Given the description of an element on the screen output the (x, y) to click on. 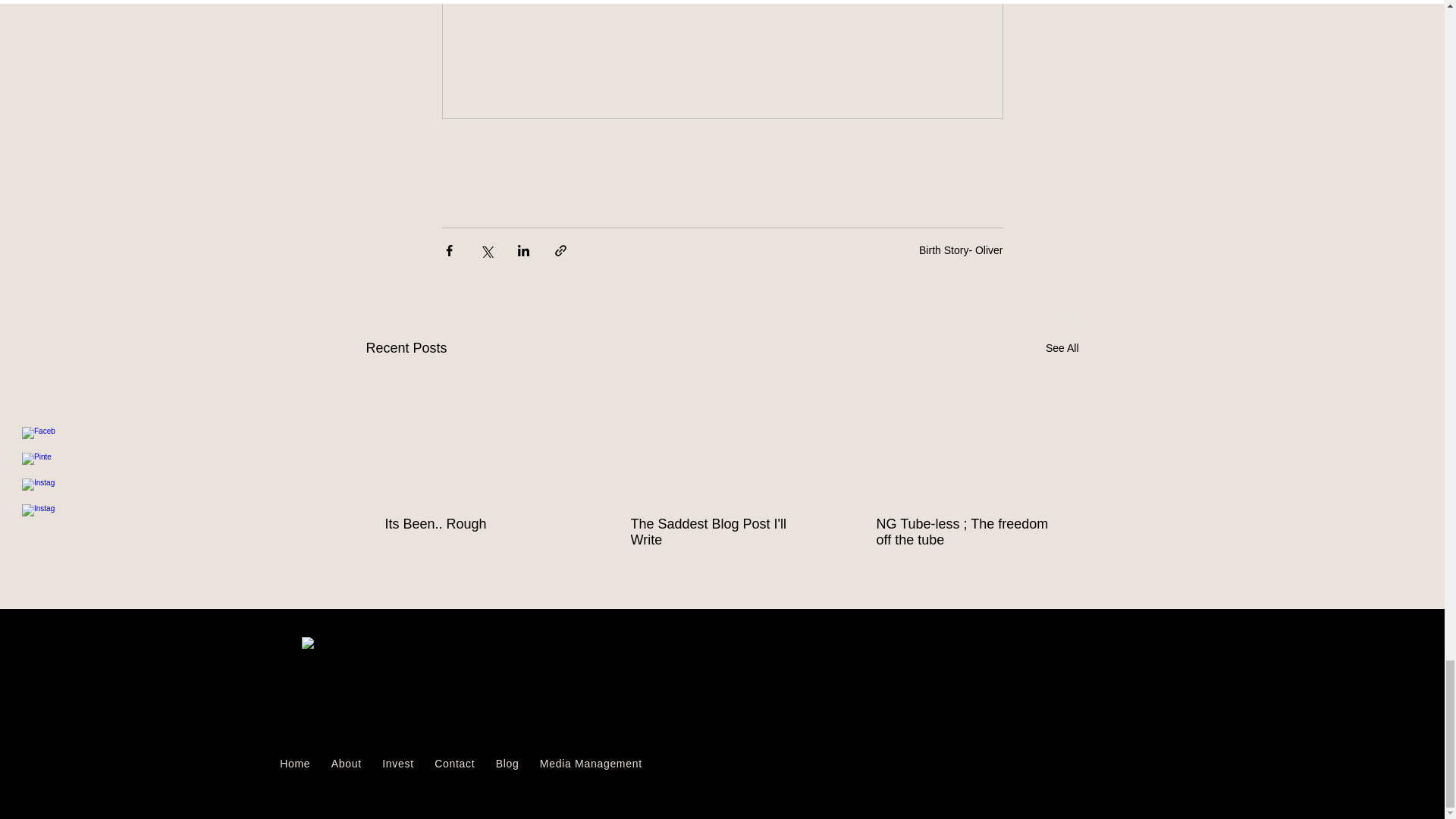
See All (1061, 348)
The Saddest Blog Post I'll Write (721, 531)
Invest (460, 763)
Contact (397, 763)
Birth Story- Oliver (454, 763)
Its Been.. Rough (960, 250)
NG Tube-less ; The freedom off the tube (476, 524)
Media Management (967, 531)
